Given the description of an element on the screen output the (x, y) to click on. 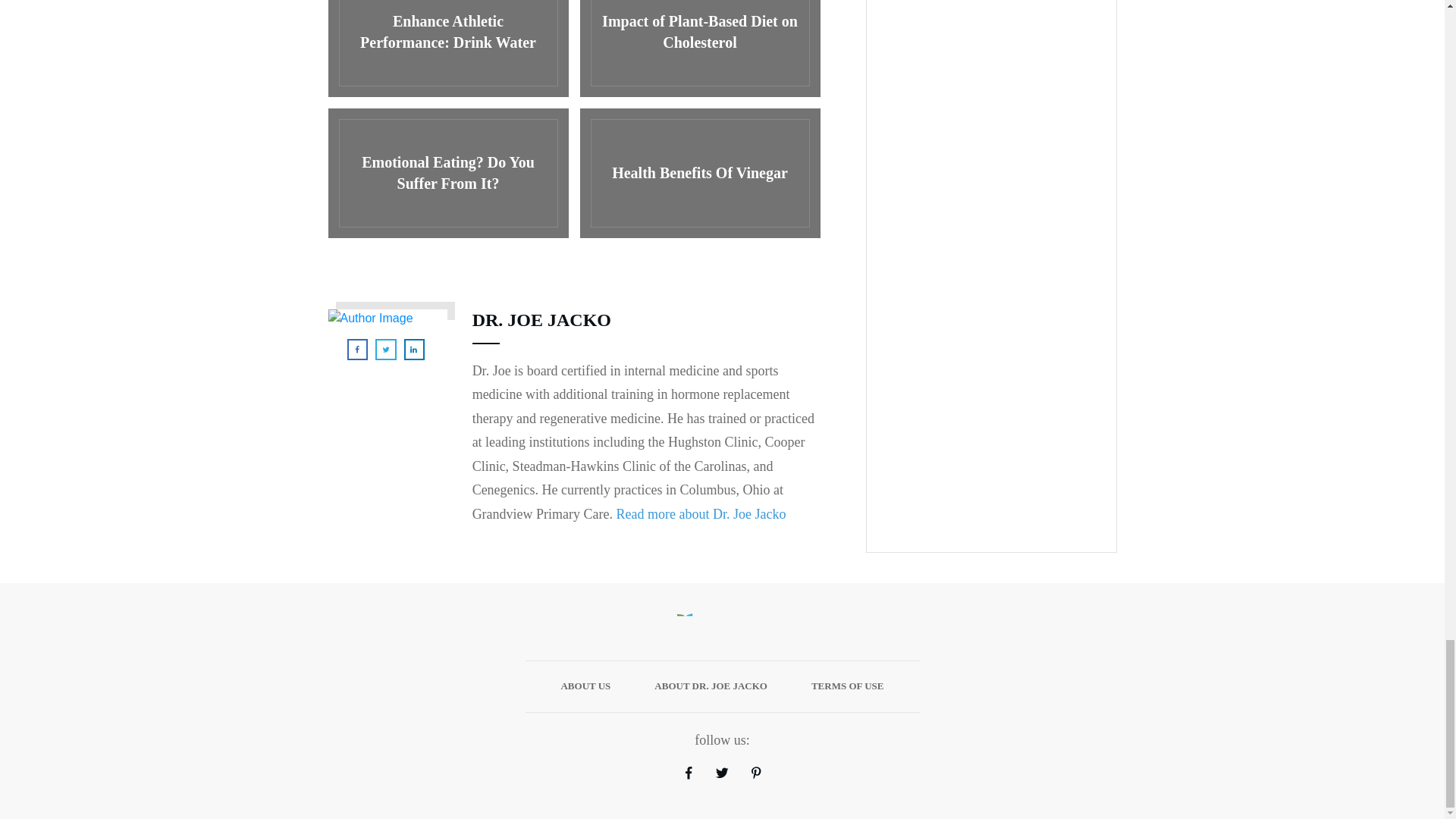
Emotional Eating? Do You Suffer From It? (447, 173)
Impact of Plant-Based Diet on Cholesterol (699, 48)
Health Benefits Of Vinegar (699, 173)
Enhance Athletic Performance: Drink Water (447, 48)
Read more about Dr. Joe Jacko (700, 513)
